Given the description of an element on the screen output the (x, y) to click on. 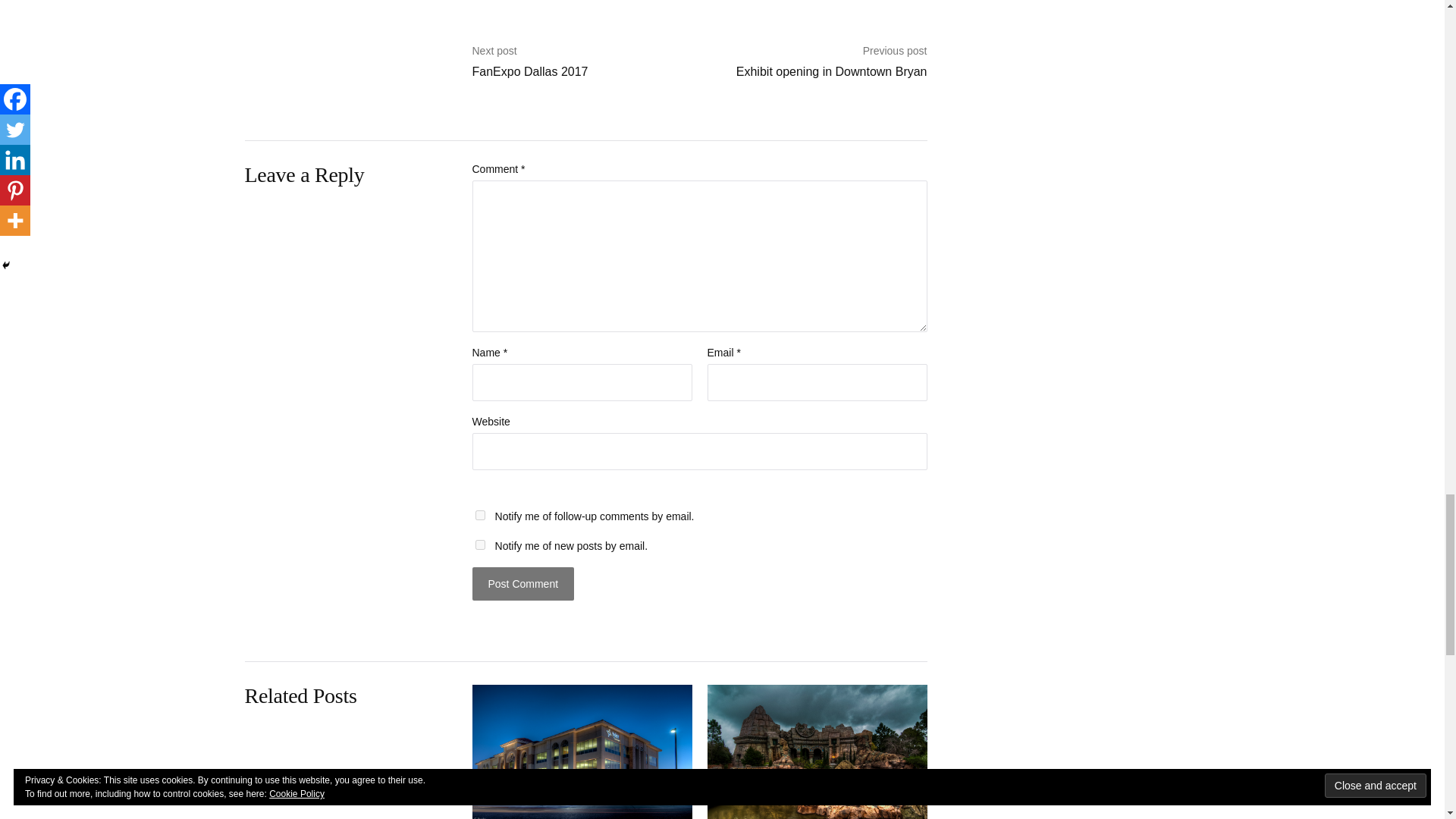
subscribe (479, 515)
subscribe (479, 544)
Post Comment (522, 583)
